Given the description of an element on the screen output the (x, y) to click on. 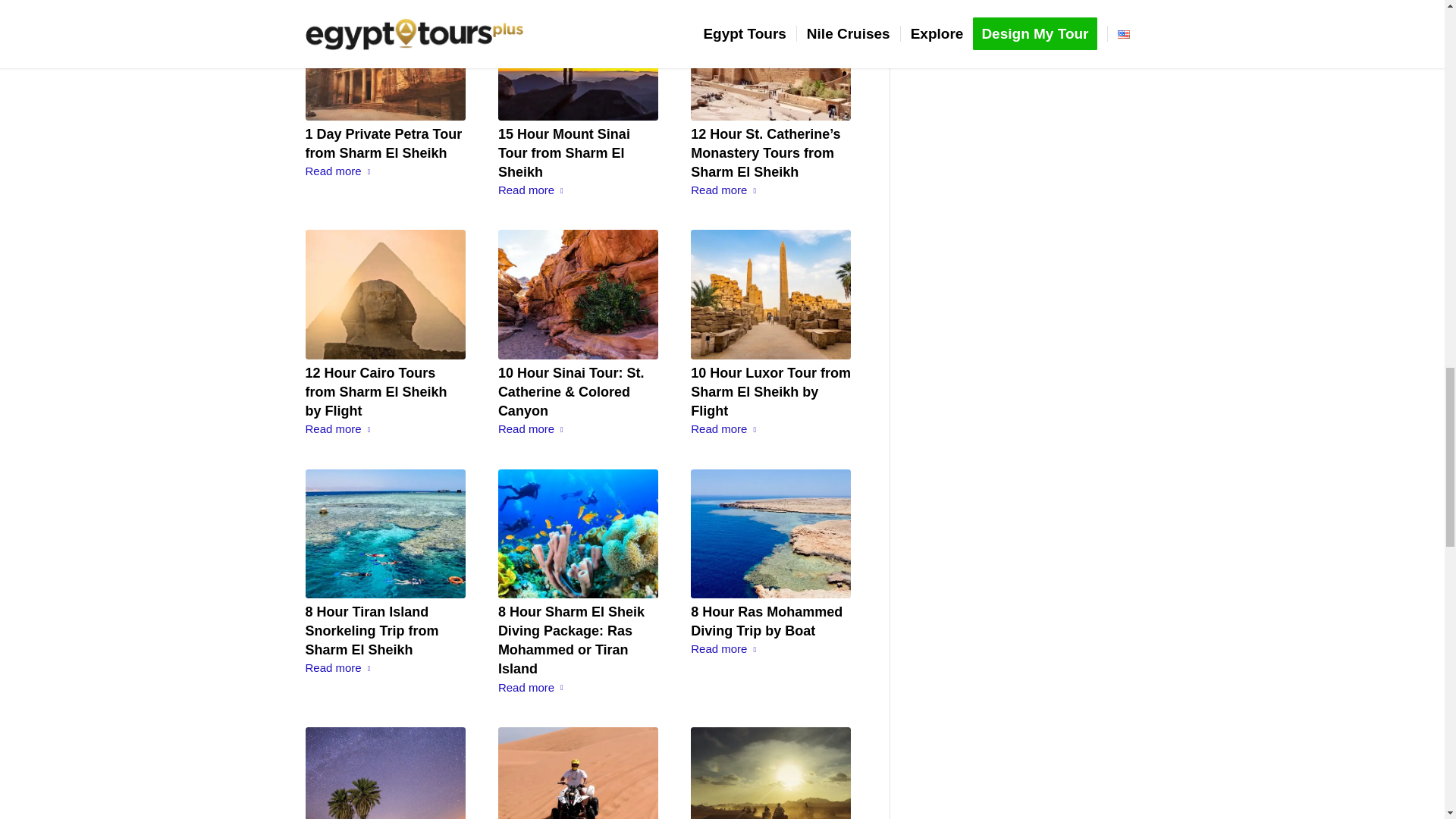
1 Day Private Petra Tour from Sharm El Sheikh (384, 59)
1 Day Private Petra Tour from Sharm El Sheikh (382, 143)
15 Hour Mount Sinai Tour from Sharm El Sheikh (577, 59)
15 Hour Mount Sinai Tour from Sharm El Sheikh (563, 152)
